Given the description of an element on the screen output the (x, y) to click on. 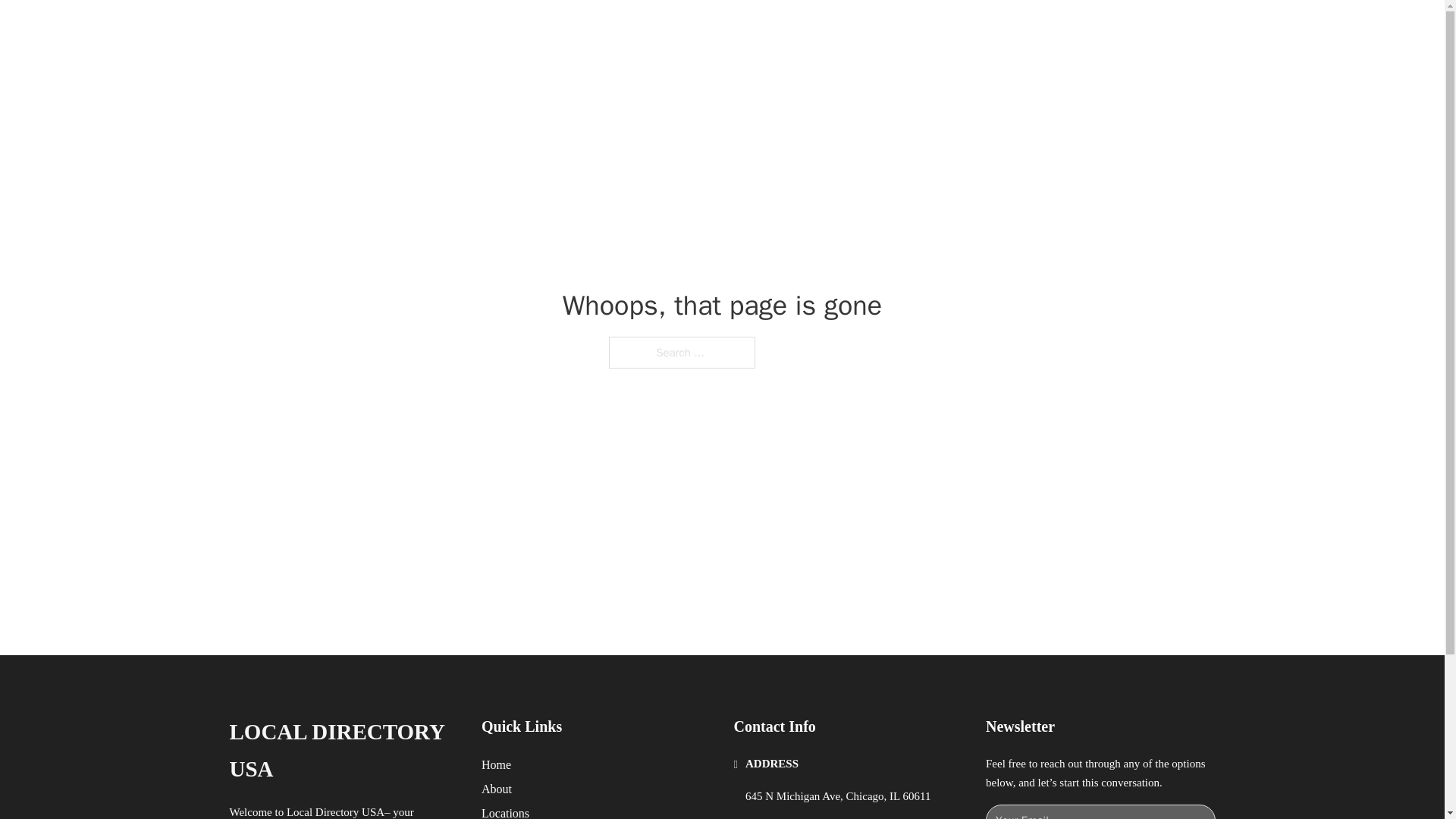
Home (496, 764)
About (496, 788)
HOME (919, 29)
LOCATIONS (990, 29)
LOCAL DIRECTORY USA (343, 750)
LOCAL DIRECTORY USA (425, 28)
Locations (505, 811)
